Given the description of an element on the screen output the (x, y) to click on. 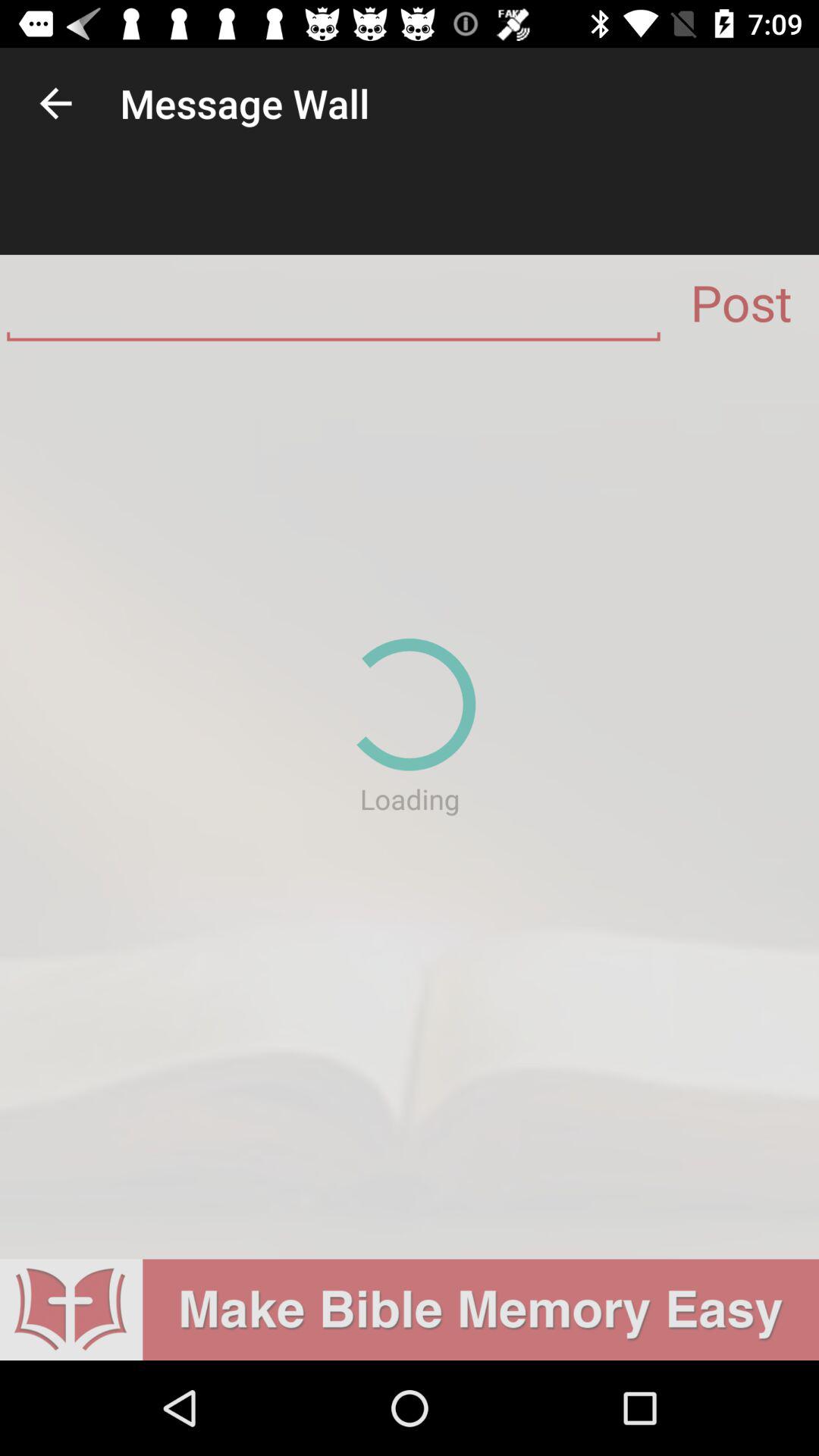
go do loading (409, 804)
